Given the description of an element on the screen output the (x, y) to click on. 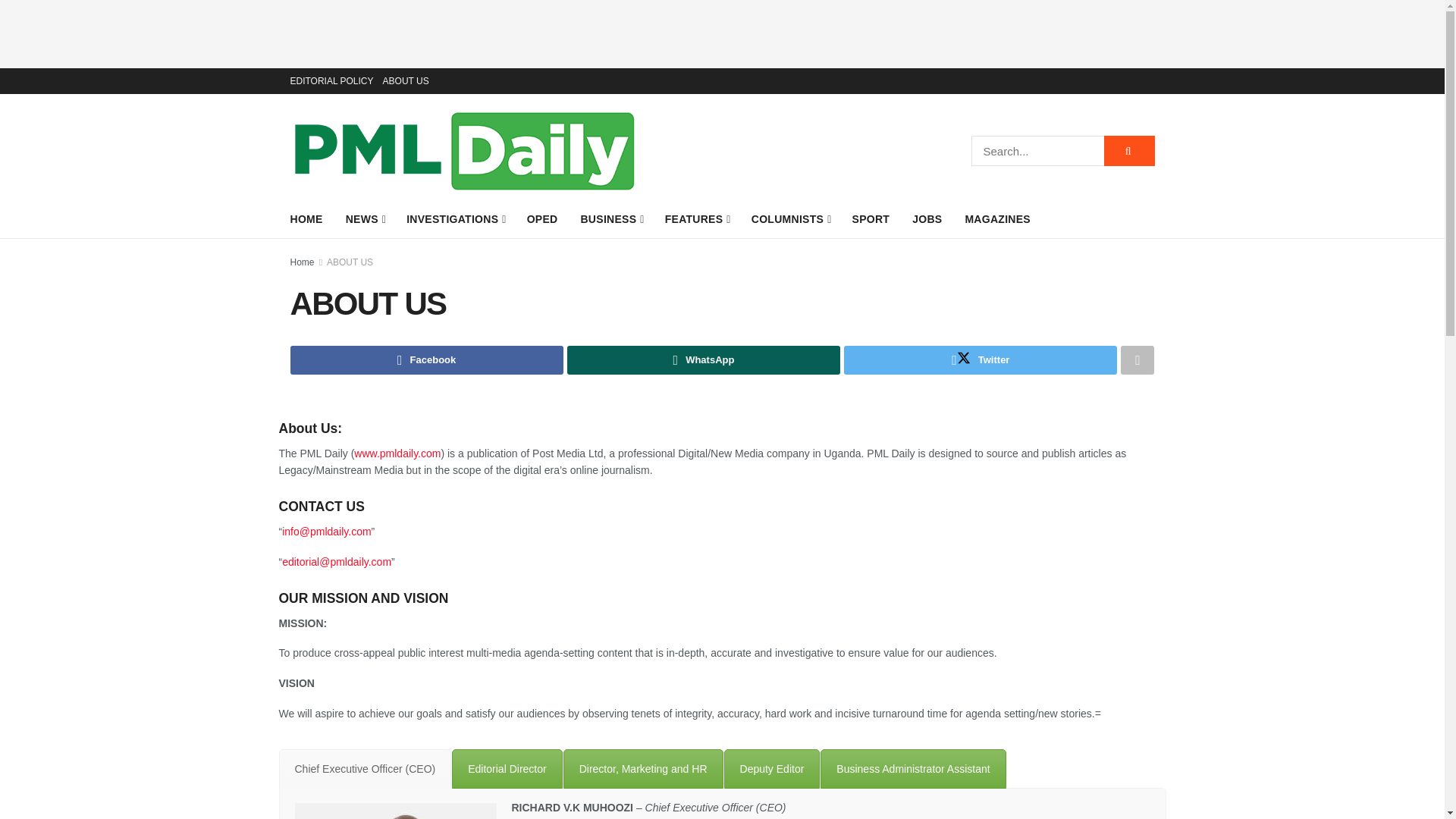
OPED (542, 219)
EDITORIAL POLICY (330, 80)
FEATURES (697, 219)
ABOUT US (405, 80)
COLUMNISTS (790, 219)
INVESTIGATIONS (454, 219)
SPORT (870, 219)
JOBS (927, 219)
NEWS (365, 219)
BUSINESS (610, 219)
MAGAZINES (996, 219)
HOME (305, 219)
